Given the description of an element on the screen output the (x, y) to click on. 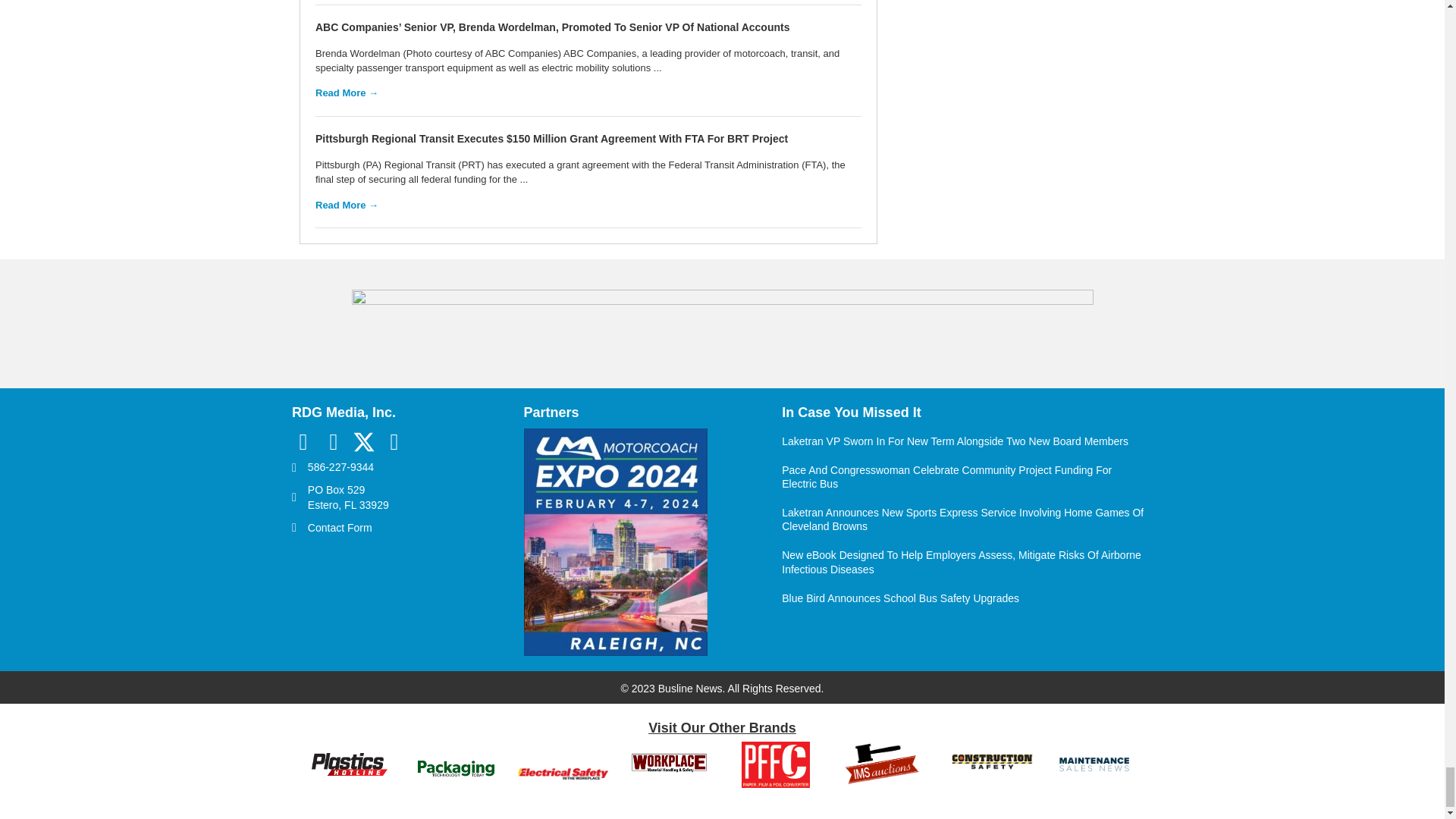
Facebook (303, 441)
LinkedIn (333, 441)
